Given the description of an element on the screen output the (x, y) to click on. 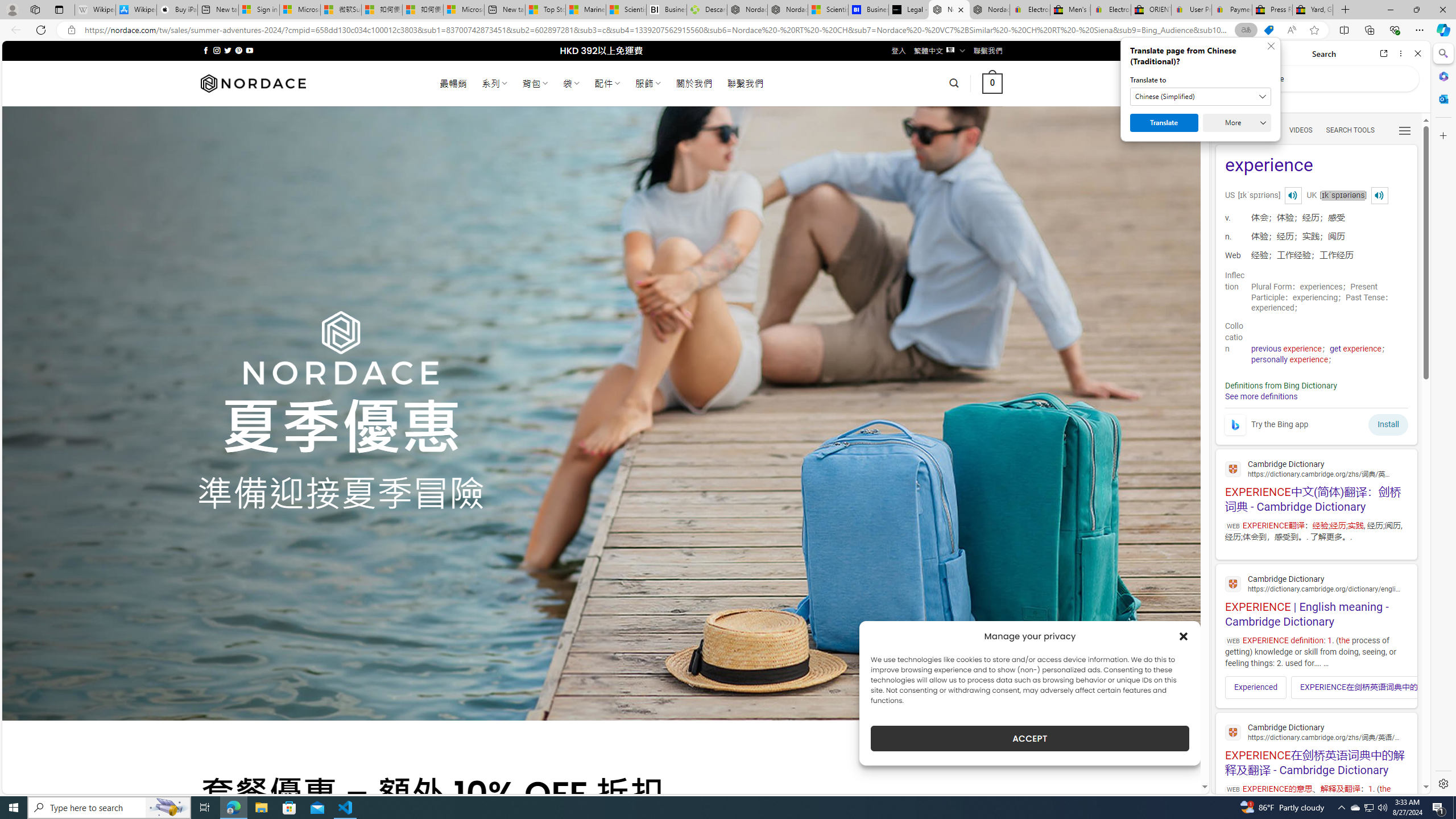
Marine life - MSN (585, 9)
Home (1261, 53)
Wikipedia - Sleeping (94, 9)
Customize (1442, 135)
Microsoft Services Agreement (299, 9)
Follow on Twitter (227, 50)
Side bar (1443, 418)
Click to scroll right (1400, 687)
Open link in new tab (1383, 53)
Address and search bar (658, 29)
Descarga Driver Updater (706, 9)
Payments Terms of Use | eBay.com (1231, 9)
